Given the description of an element on the screen output the (x, y) to click on. 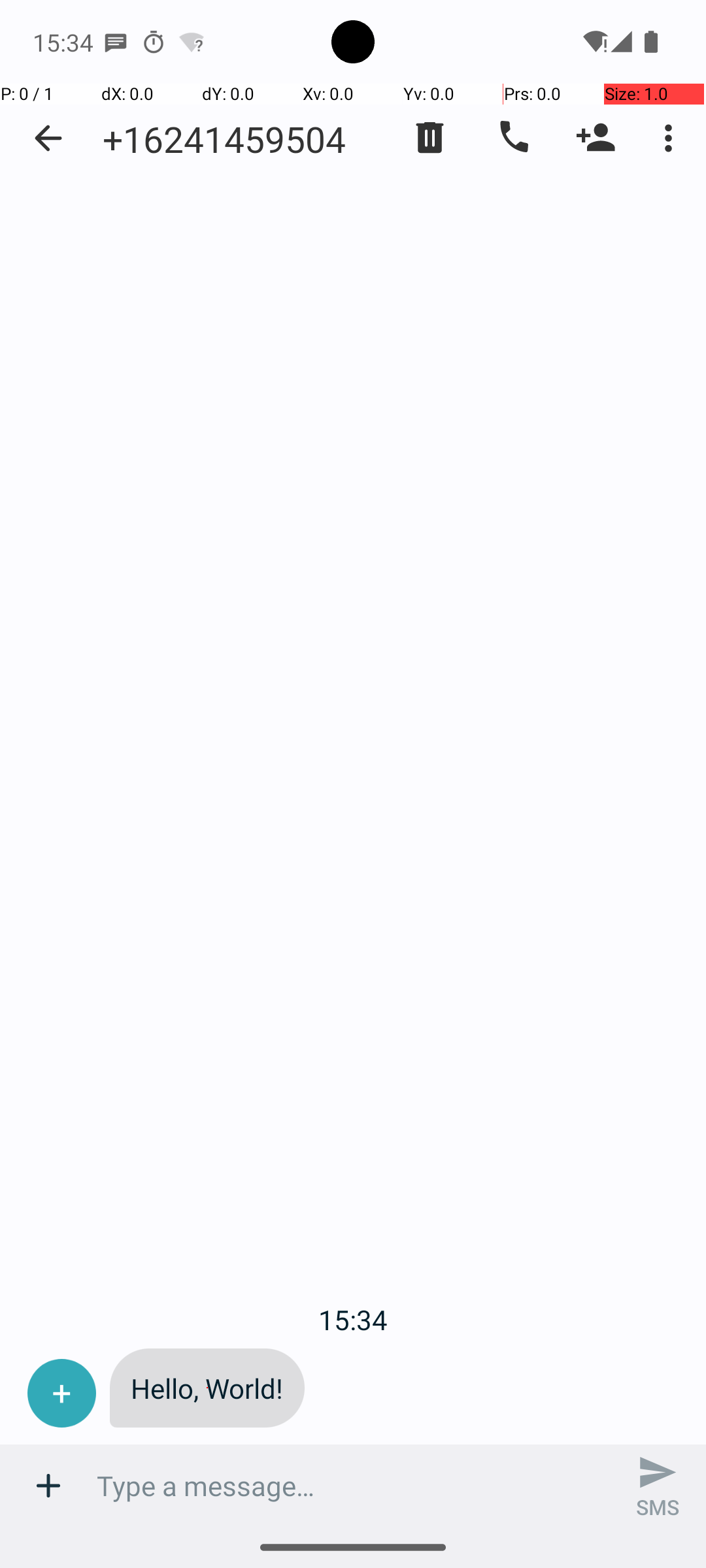
+16241459504 Element type: android.widget.TextView (223, 138)
Hello, World! Element type: android.widget.TextView (206, 1387)
